Given the description of an element on the screen output the (x, y) to click on. 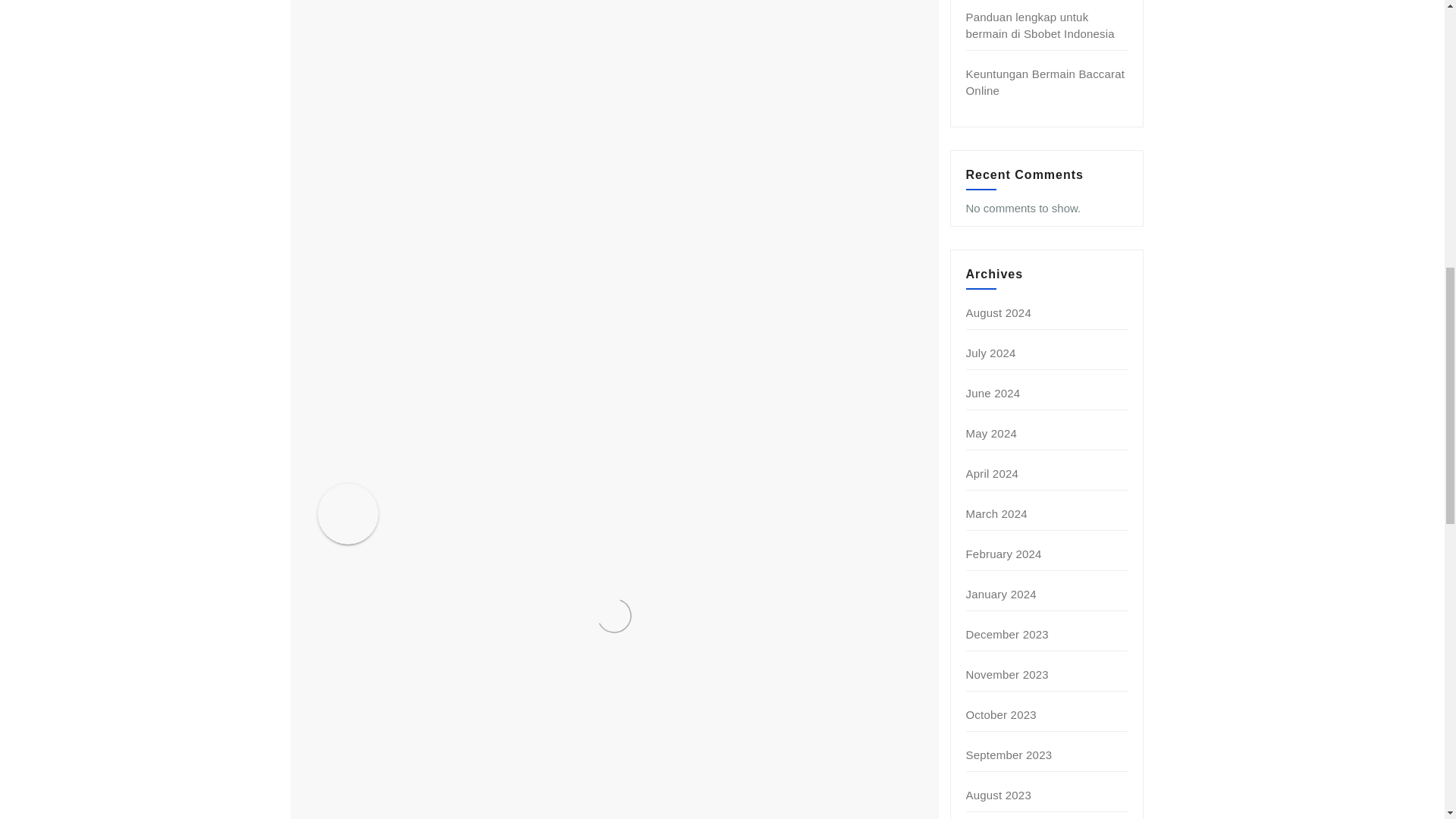
January 2024 (1001, 594)
September 2023 (1009, 754)
November 2023 (1007, 674)
October 2023 (1001, 714)
July 2024 (991, 352)
April 2024 (992, 472)
Keuntungan Bermain Baccarat Online (1045, 82)
adminss (473, 495)
February 2024 (1004, 553)
Panduan lengkap untuk bermain di Sbobet Indonesia (1040, 25)
